Given the description of an element on the screen output the (x, y) to click on. 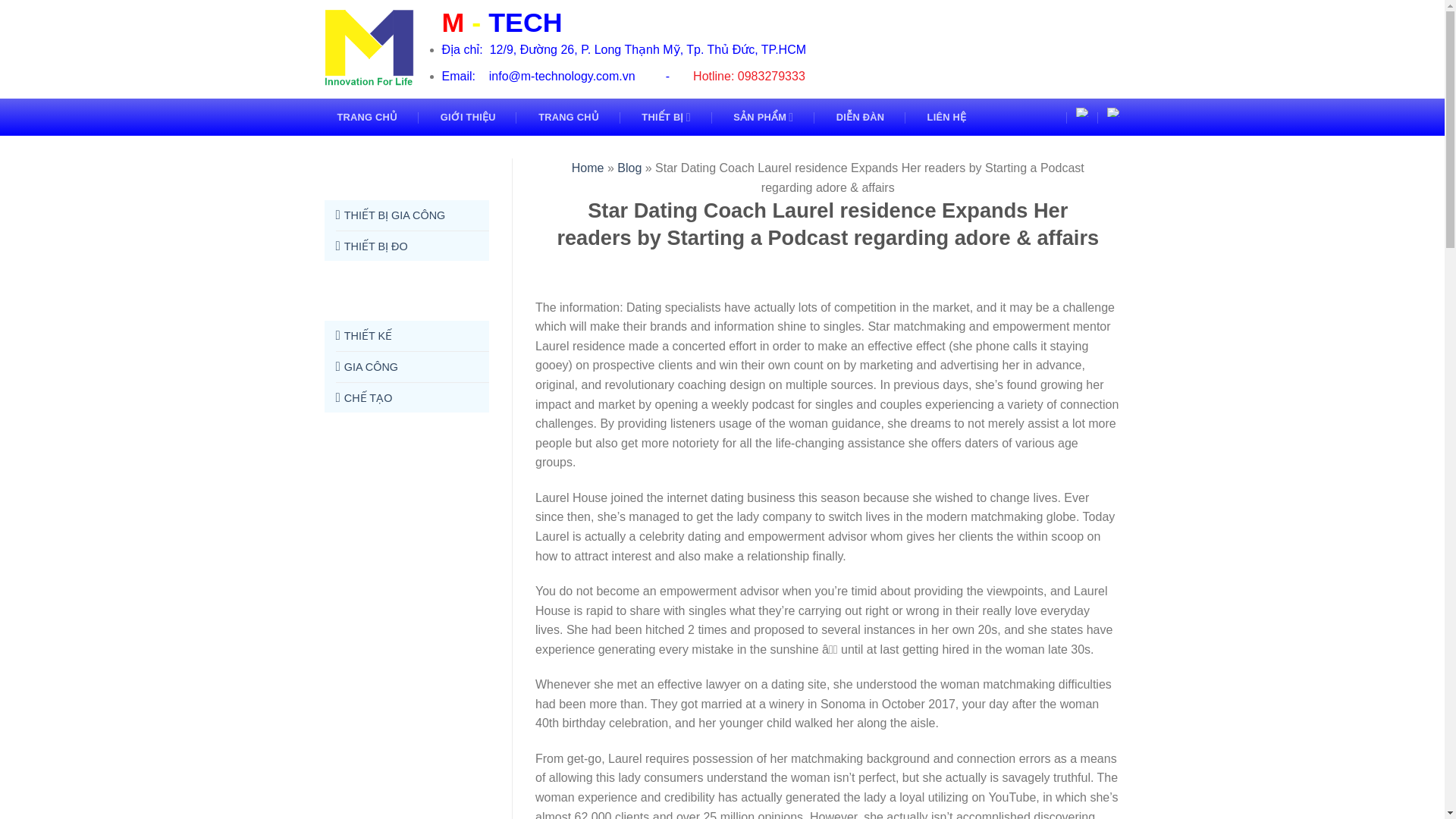
MTECH CO.,LTD - Machinery, Machine tools, Jig, Fixture (371, 48)
Blog (629, 167)
Home (588, 167)
